Given the description of an element on the screen output the (x, y) to click on. 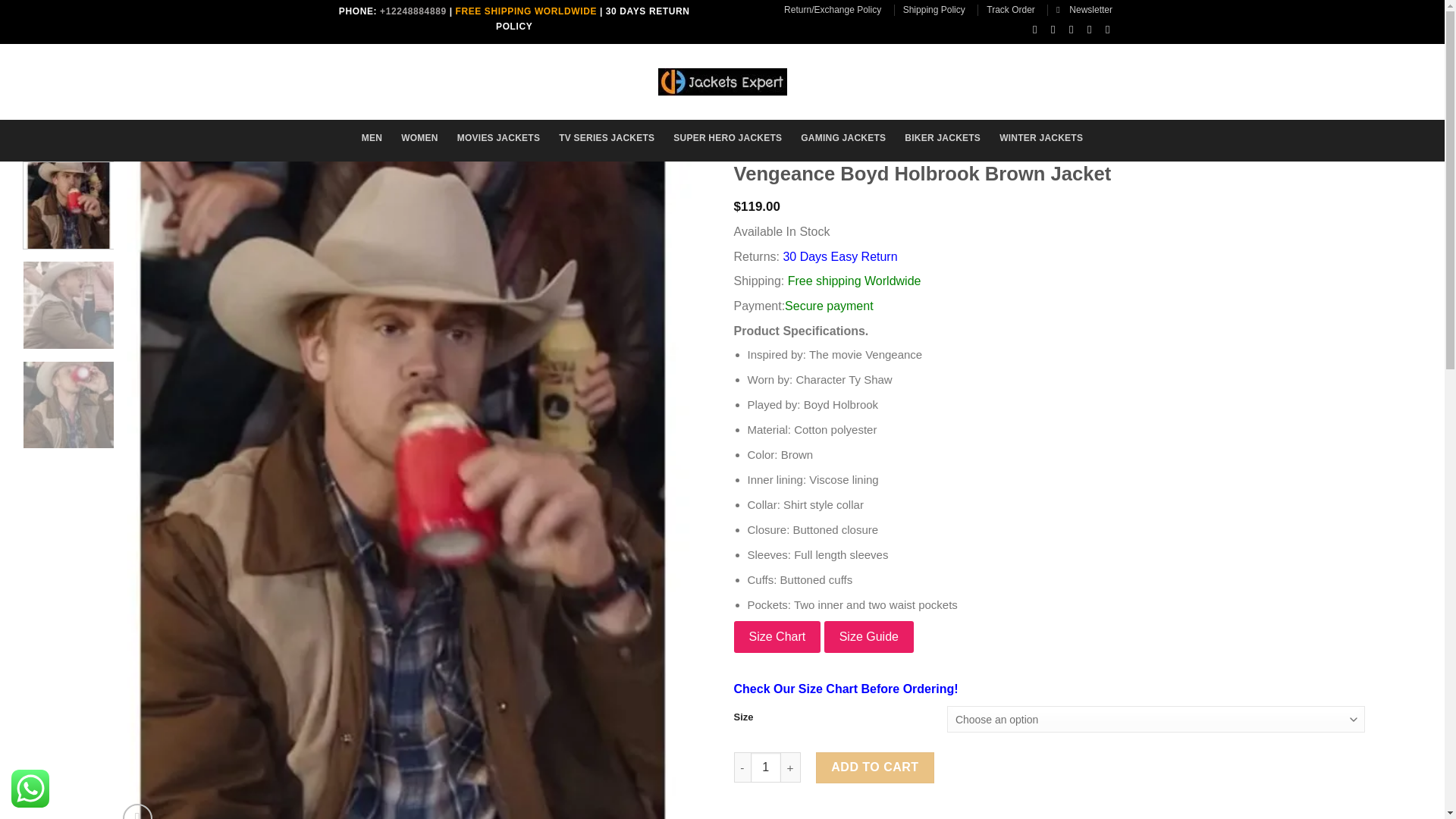
1 (765, 767)
Newsletter (1084, 9)
Track Order (1011, 9)
LOGIN (971, 79)
WINTER JACKETS (1040, 137)
Shipping Policy (933, 9)
Search (411, 76)
MOVIES JACKETS (498, 137)
Sign up for Newsletter (1084, 9)
WOMEN (419, 137)
